Given the description of an element on the screen output the (x, y) to click on. 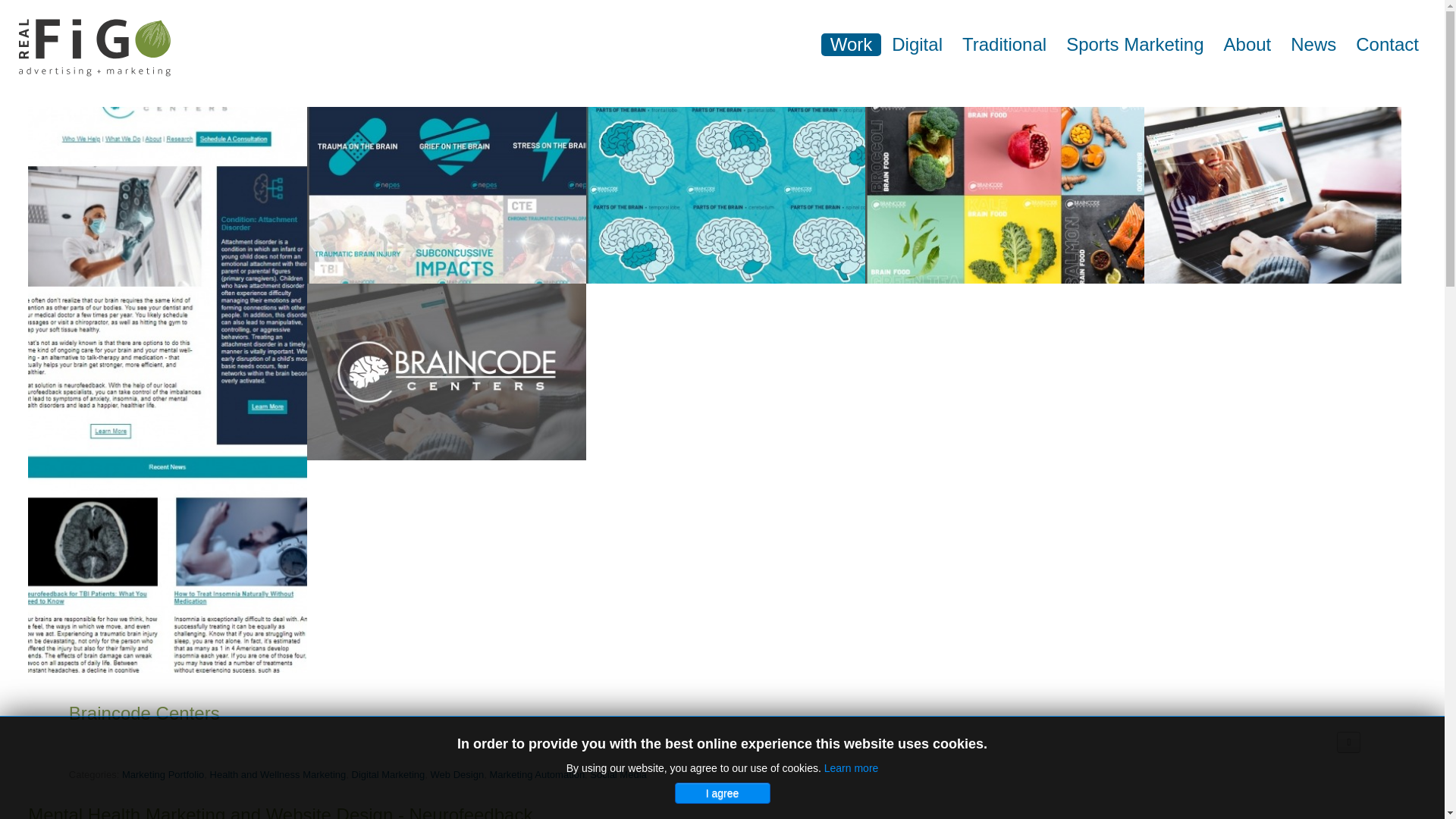
Health and Wellness Marketing (277, 774)
Marketing Portfolio (162, 774)
About (1247, 44)
Work (851, 44)
Social Media (617, 774)
Web Design (457, 774)
Traditional (1004, 44)
Digital Marketing (388, 774)
Sports Marketing (1134, 44)
News (1313, 44)
Contact (1387, 44)
Marketing Automation (537, 774)
Digital (917, 44)
